Given the description of an element on the screen output the (x, y) to click on. 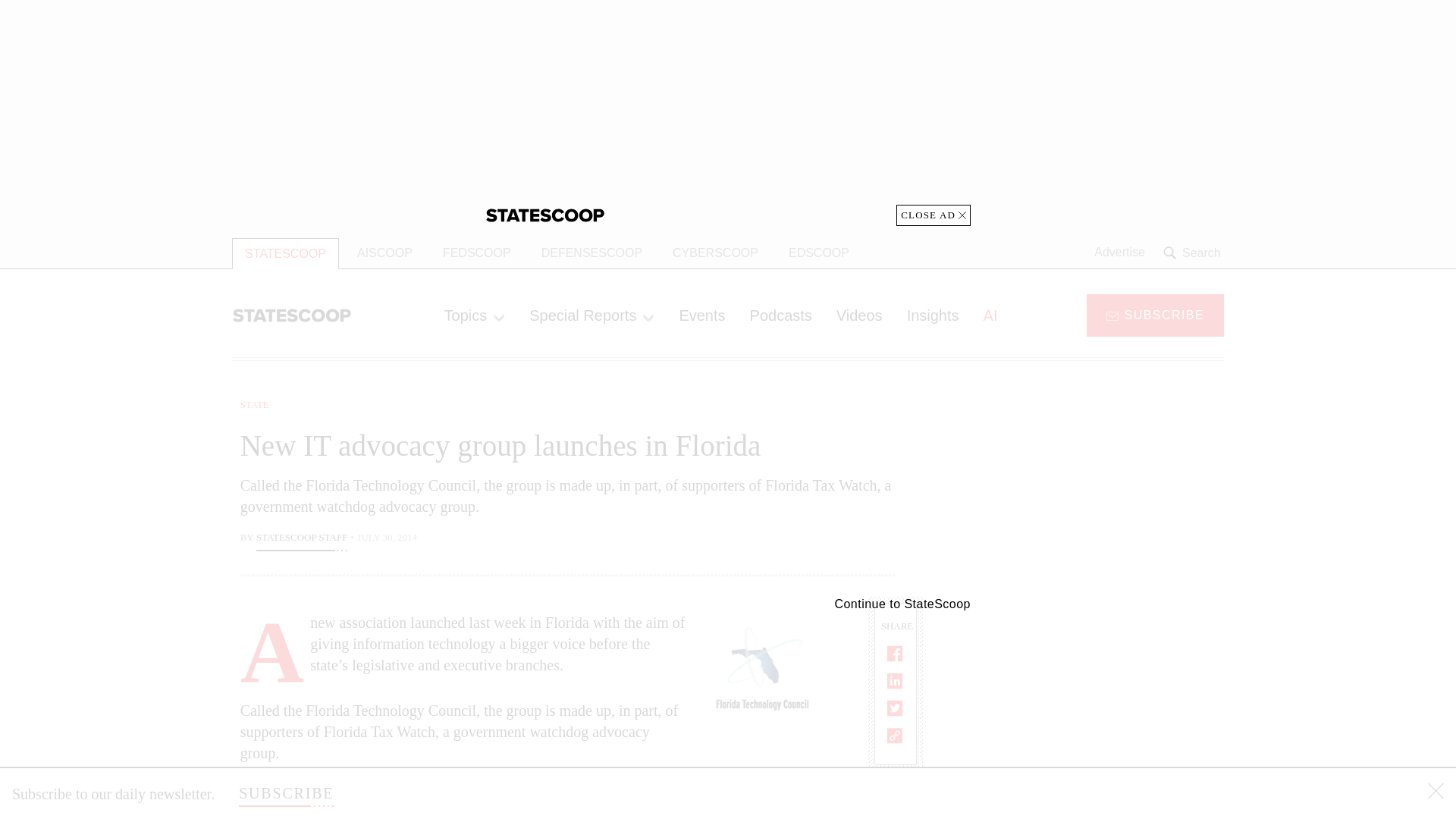
Podcasts (781, 315)
Search (1193, 252)
3rd party ad content (1101, 705)
SUBSCRIBE (1155, 314)
FEDSCOOP (476, 253)
STATESCOOP (285, 253)
AISCOOP (385, 253)
Topics (475, 315)
EDSCOOP (818, 253)
Advertise (1119, 252)
Events (701, 315)
3rd party ad content (1101, 492)
Insights (933, 315)
